Given the description of an element on the screen output the (x, y) to click on. 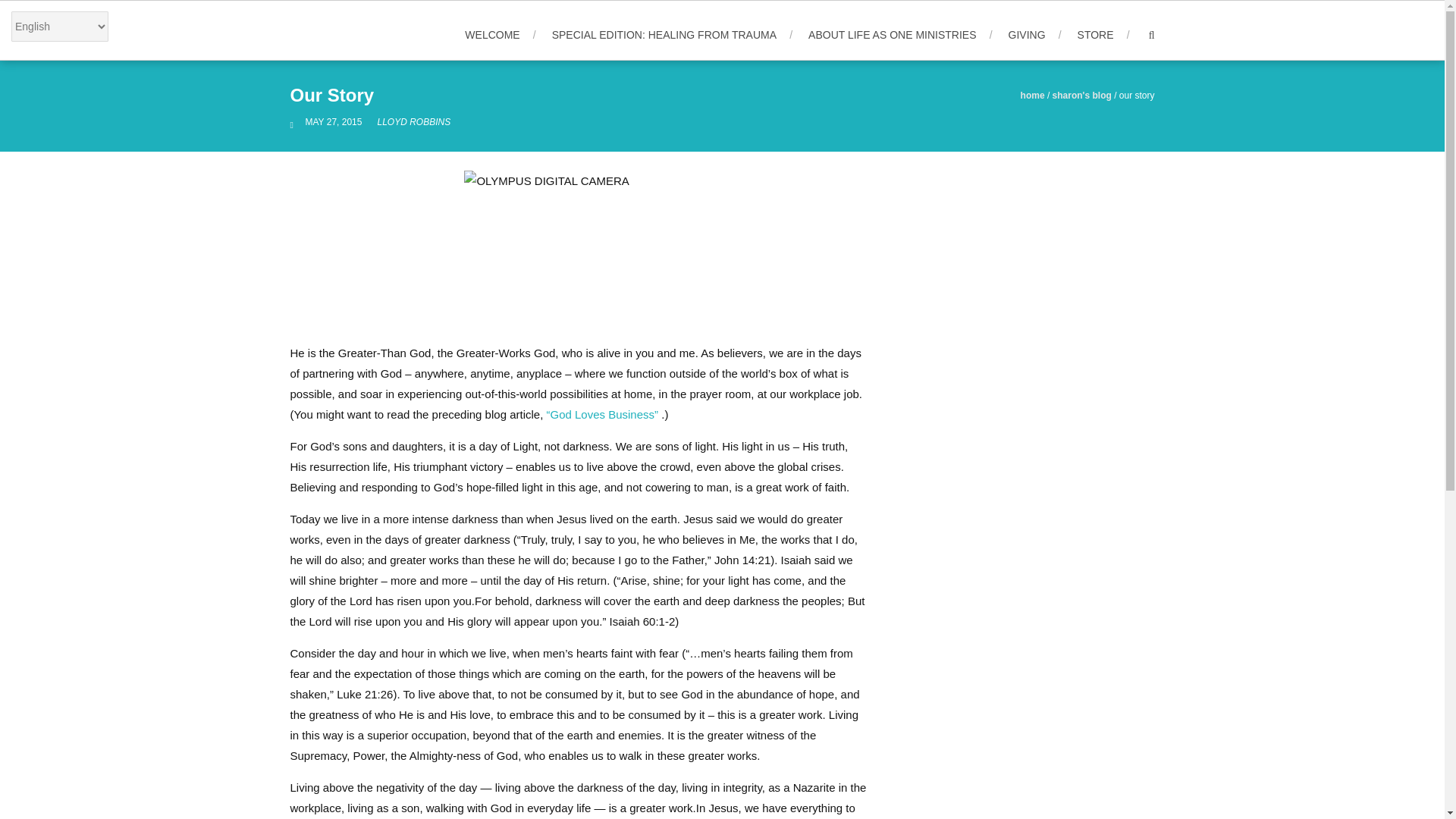
home (1032, 95)
ABOUT LIFE AS ONE MINISTRIES (899, 35)
GIVING (1035, 35)
STORE (1103, 35)
WELCOME (499, 35)
MAY 27, 2015 (333, 122)
sharon's blog (1082, 95)
LLOYD ROBBINS (413, 122)
SPECIAL EDITION: HEALING FROM TRAUMA (671, 35)
